Given the description of an element on the screen output the (x, y) to click on. 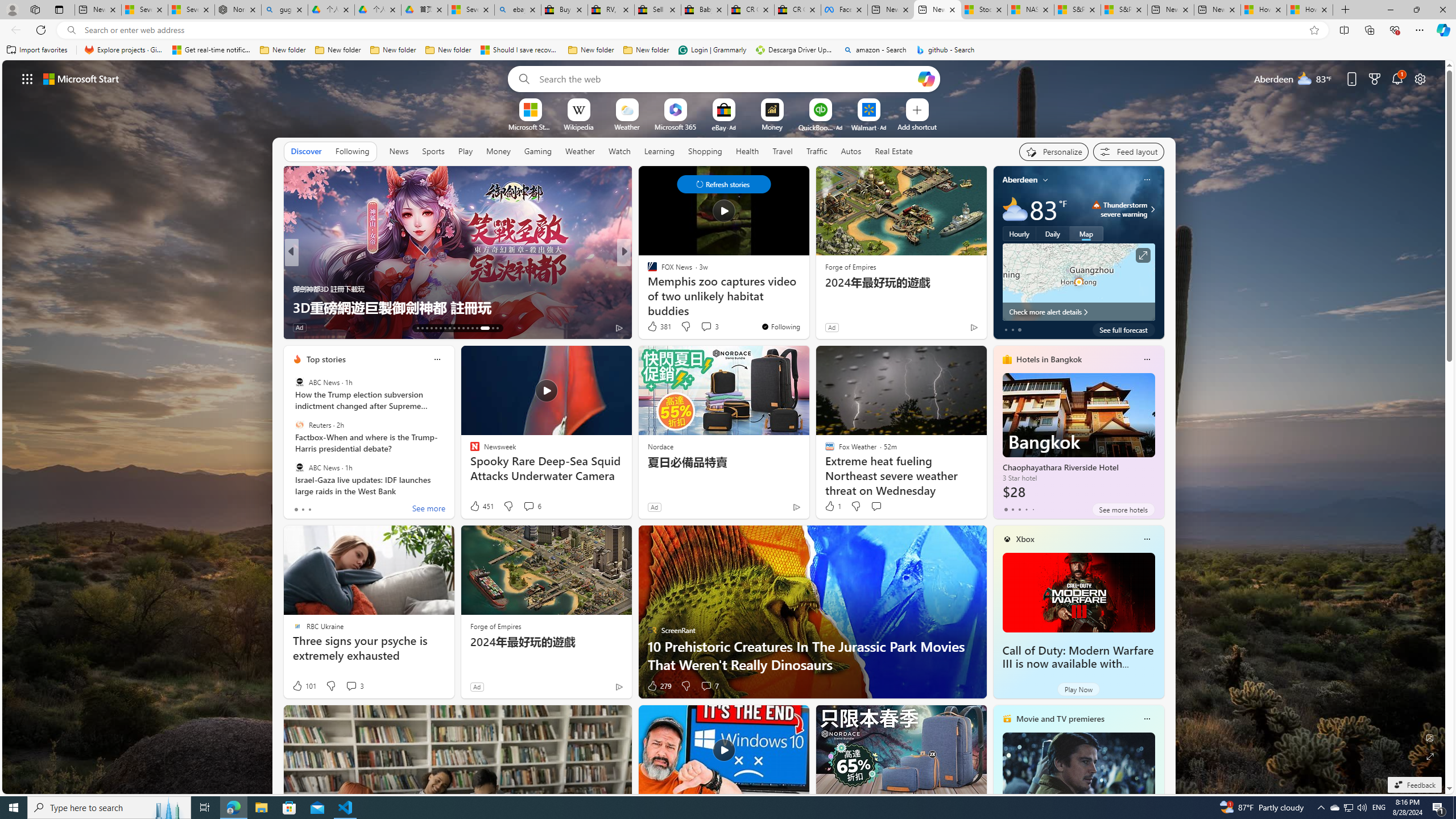
Real Estate (893, 151)
How to Use a Monitor With Your Closed Laptop (1309, 9)
Buy Auto Parts & Accessories | eBay (563, 9)
Sports (432, 151)
Microsoft 365 (675, 126)
tab-4 (1032, 509)
Personalize your feed" (1054, 151)
Daily (1052, 233)
Money (497, 151)
Forge of Empires (495, 625)
Forgiveness Is a Journey to Emotional Freedom (457, 307)
